Given the description of an element on the screen output the (x, y) to click on. 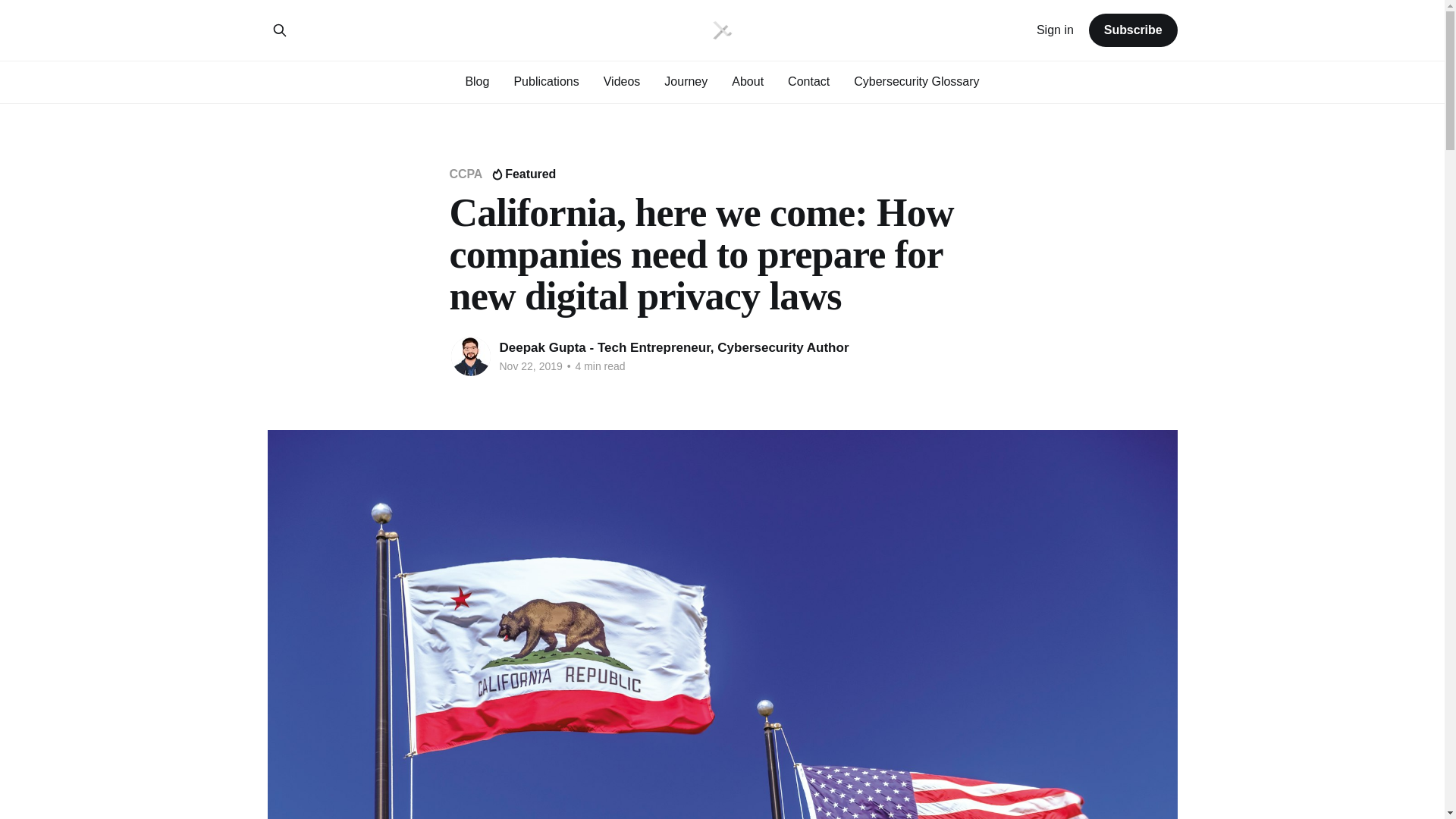
Cybersecurity Glossary (915, 81)
Sign in (1055, 30)
Videos (622, 81)
CCPA (464, 173)
Deepak Gupta - Tech Entrepreneur, Cybersecurity Author (673, 347)
Journey (685, 81)
Subscribe (1133, 29)
Blog (476, 81)
About (747, 81)
Publications (545, 81)
